Given the description of an element on the screen output the (x, y) to click on. 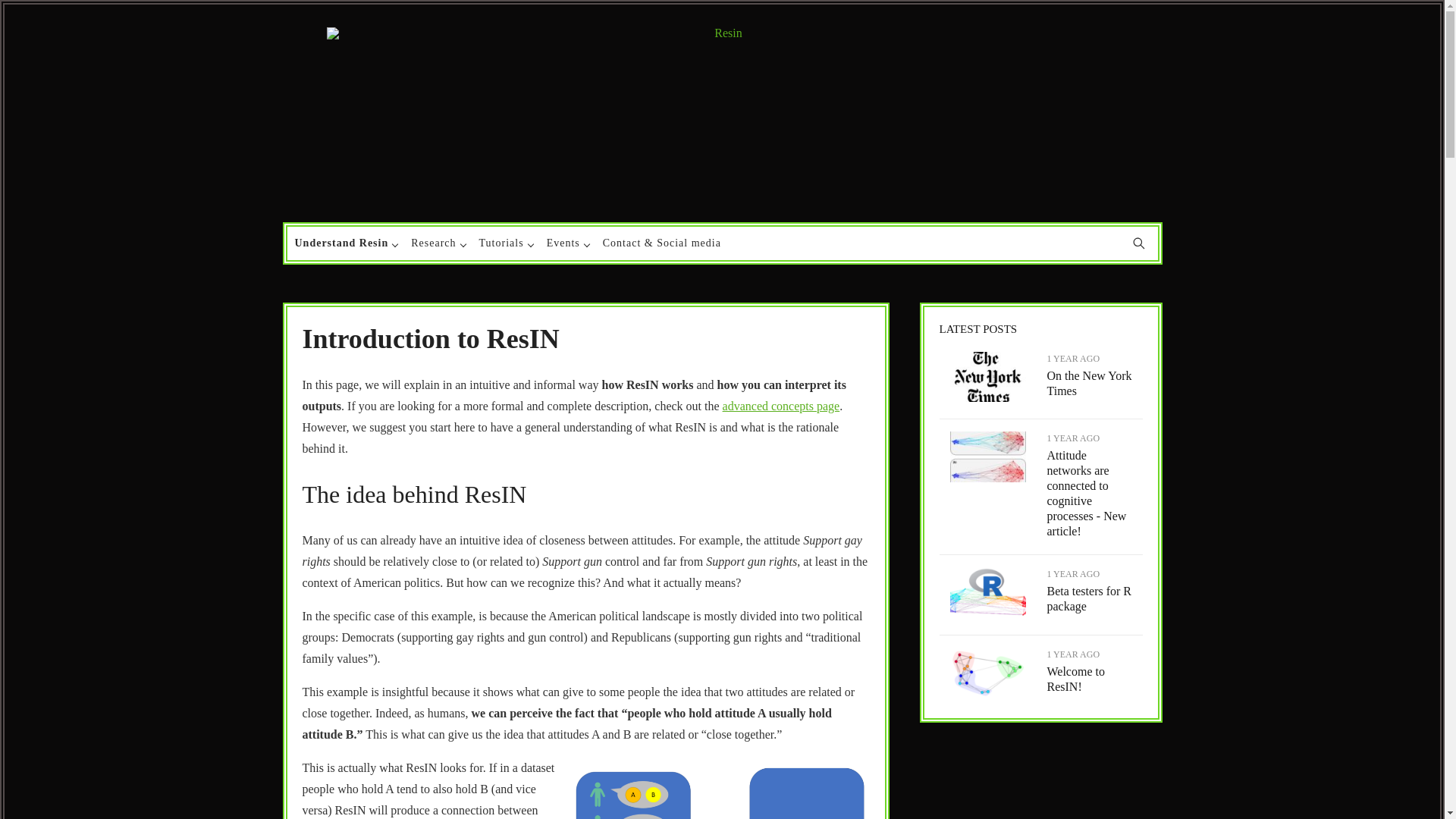
Welcome to ResIN! (1074, 678)
Beta testers for R package (1088, 598)
advanced concepts page (781, 405)
Welcome to ResIN! (987, 695)
On the New York Times (1088, 383)
On the New York Times (1088, 383)
Research (436, 243)
Beta testers for R package (1088, 598)
Welcome to ResIN! (1074, 678)
On the New York Times (987, 398)
Understand Resin (344, 243)
Beta testers for R package (987, 614)
